Given the description of an element on the screen output the (x, y) to click on. 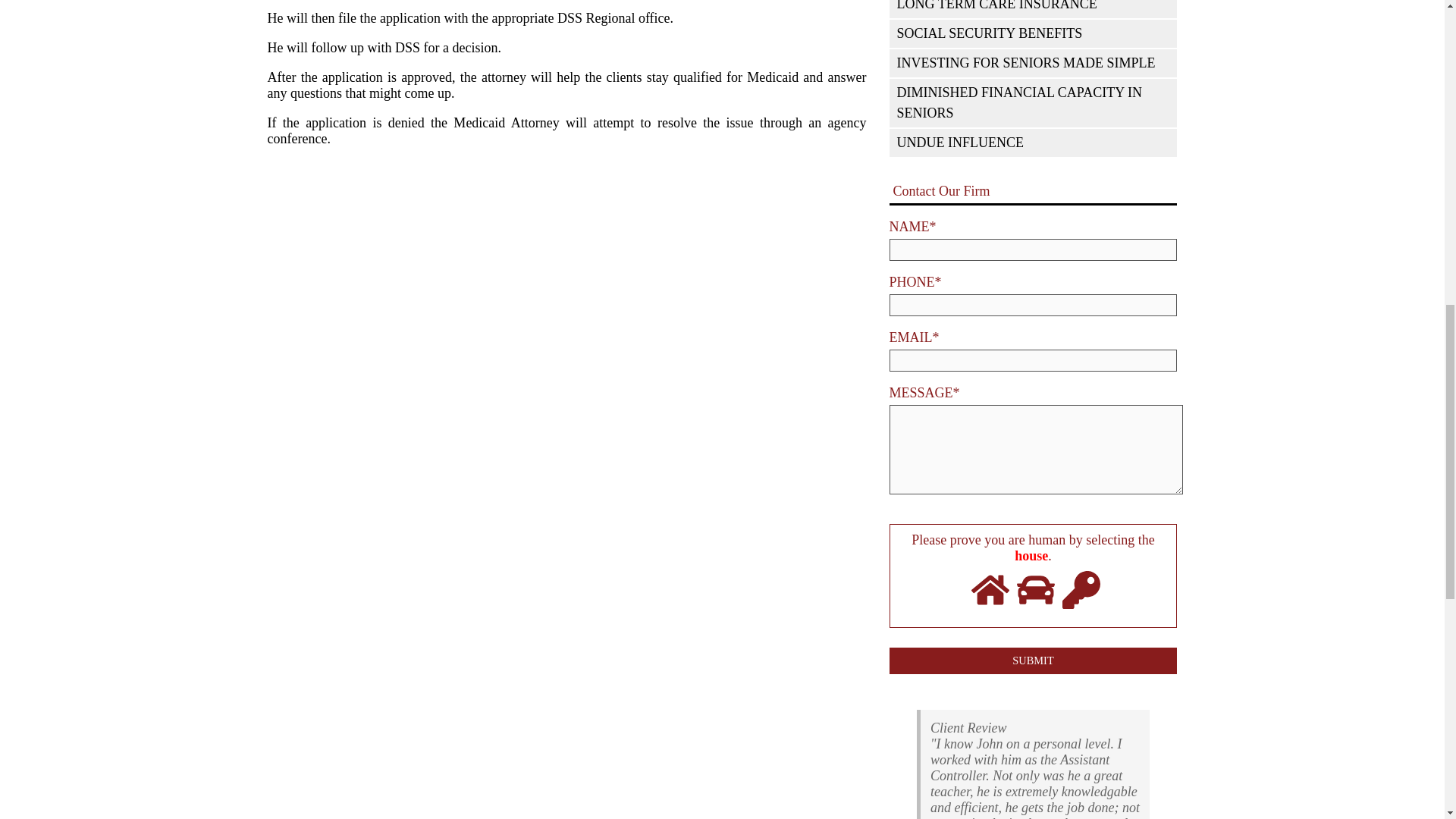
Submit (1032, 660)
